Given the description of an element on the screen output the (x, y) to click on. 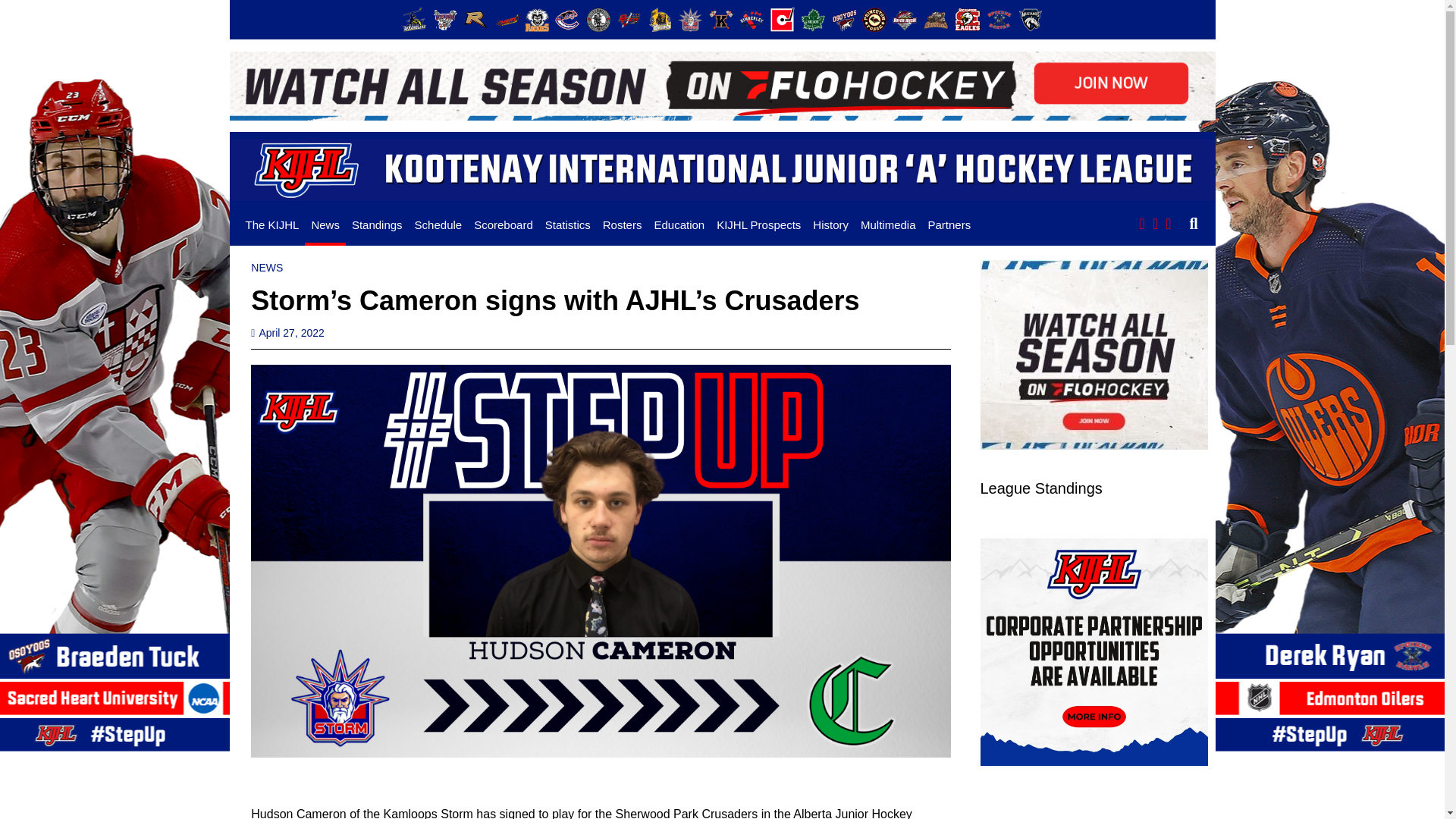
Kamloops Storm (690, 19)
Castlegar Rebels (475, 19)
Kimberley Dynamiters (751, 19)
Kelowna Chiefs (721, 19)
Grand Forks Border Bruins (659, 19)
Creston Valley Thunder Cats (566, 19)
Chase Heat (506, 19)
Fernie Ghostriders (598, 19)
Golden Rockets (628, 19)
100 Mile House Wranglers (414, 19)
Columbia Valley Rockies (536, 19)
Beaver Valley Nitehawks (444, 19)
